Given the description of an element on the screen output the (x, y) to click on. 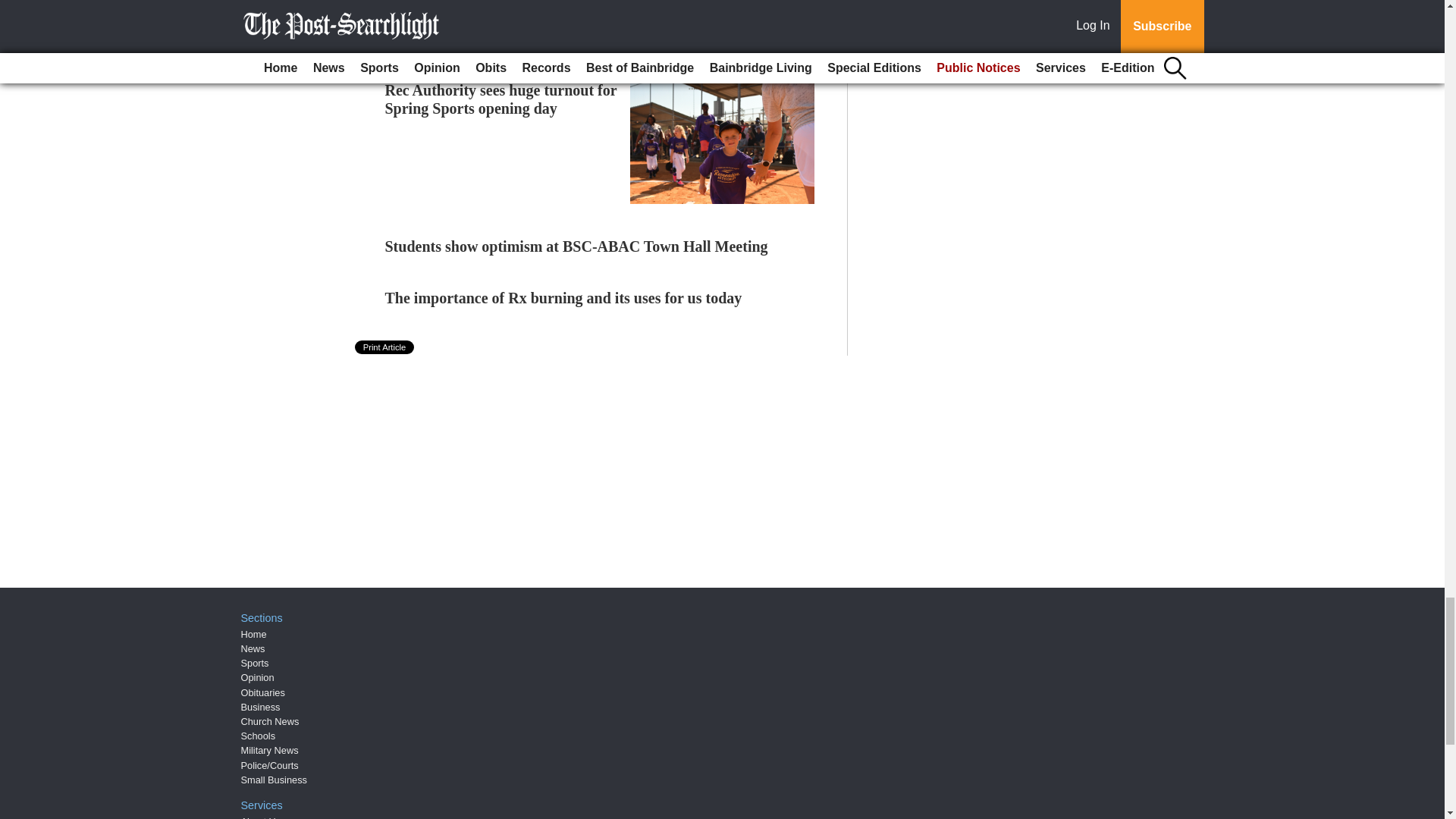
Students show optimism at BSC-ABAC Town Hall Meeting (576, 246)
The importance of Rx burning and its uses for us today (563, 297)
